Given the description of an element on the screen output the (x, y) to click on. 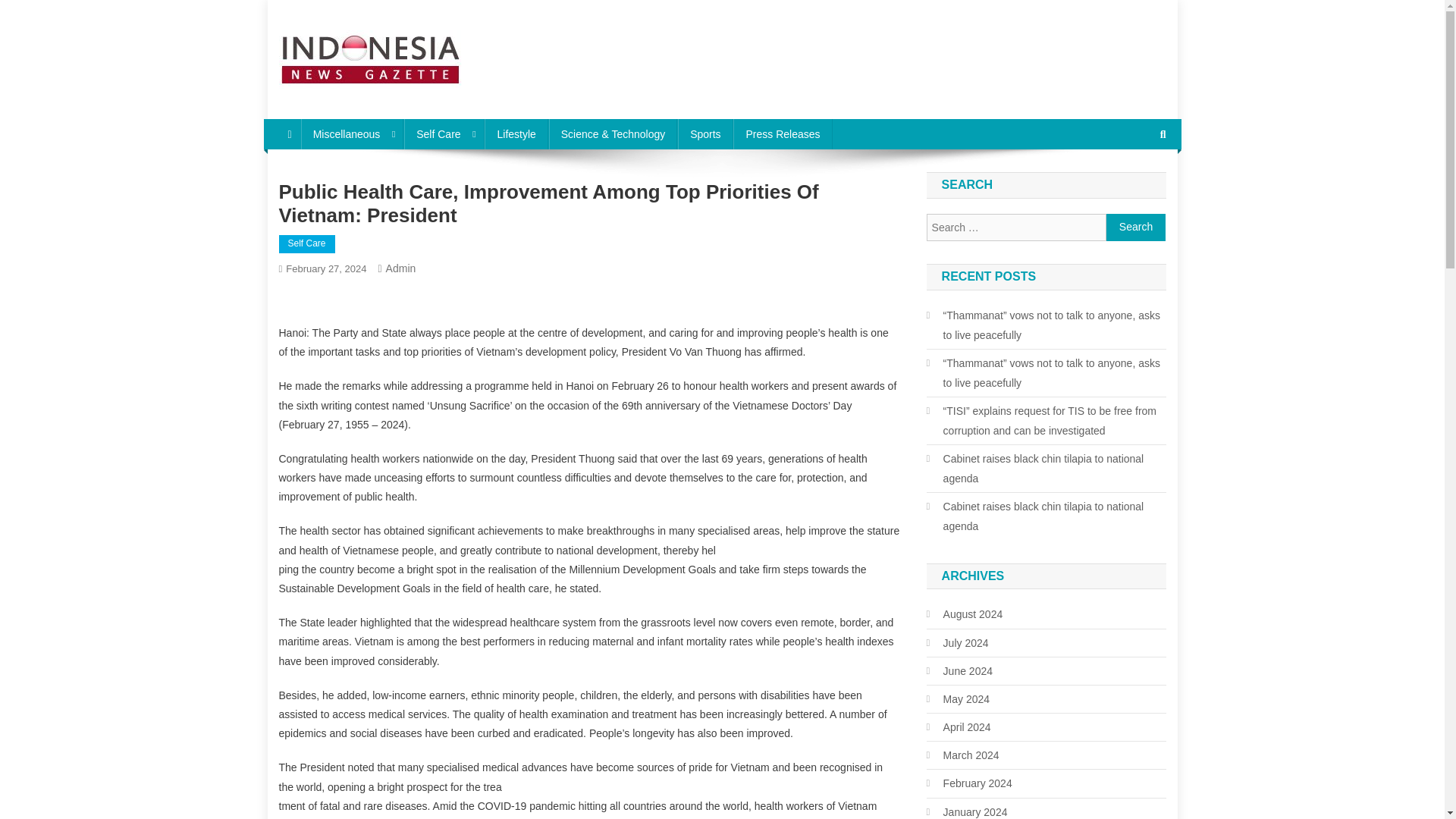
Admin (400, 268)
Lifestyle (515, 133)
Search (1133, 185)
Press Releases (782, 133)
Sports (705, 133)
Cabinet raises black chin tilapia to national agenda (1046, 516)
Indonesia News Gazette (417, 103)
Search (1136, 226)
Cabinet raises black chin tilapia to national agenda (1046, 468)
Miscellaneous (352, 133)
